Given the description of an element on the screen output the (x, y) to click on. 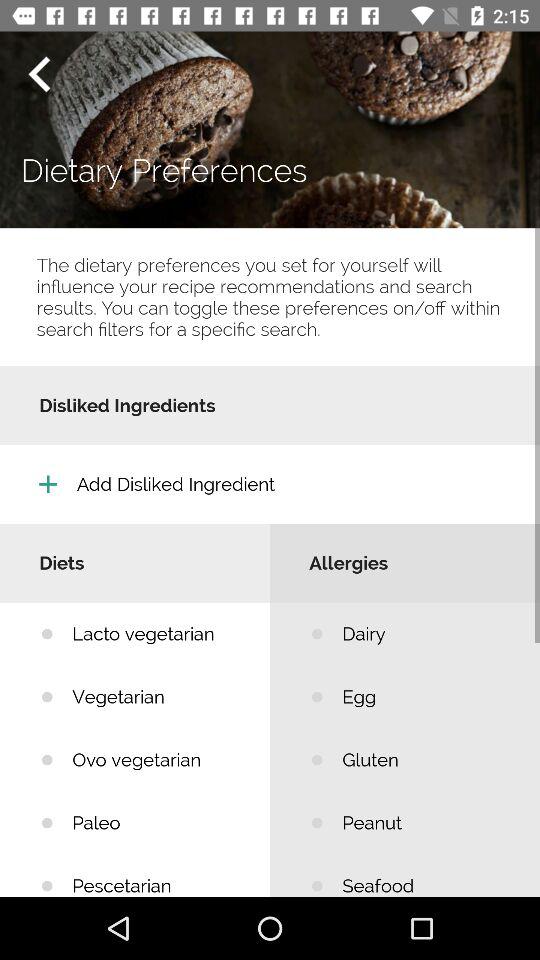
swipe to egg (426, 696)
